Given the description of an element on the screen output the (x, y) to click on. 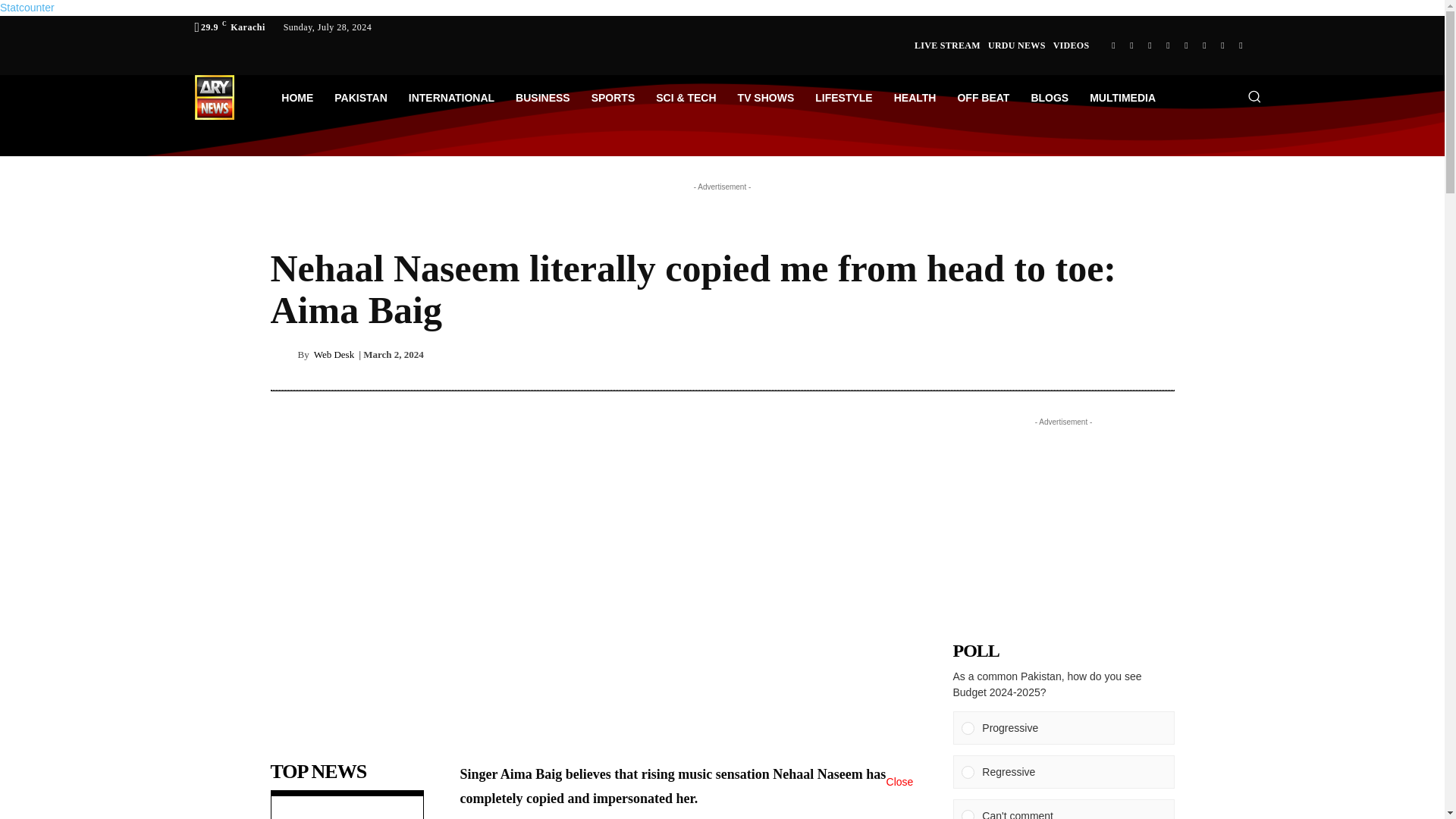
HOME (296, 97)
HEALTH (915, 97)
Close (899, 796)
BUSINESS (542, 97)
Youtube (1185, 45)
Facebook (1112, 45)
TV SHOWS (765, 97)
Statcounter (27, 7)
Web Desk (283, 354)
Instagram (1149, 45)
Whatsapp (1131, 45)
SPORTS (613, 97)
Tiktok (1221, 45)
INTERNATIONAL (451, 97)
URDU NEWS (1016, 45)
